Given the description of an element on the screen output the (x, y) to click on. 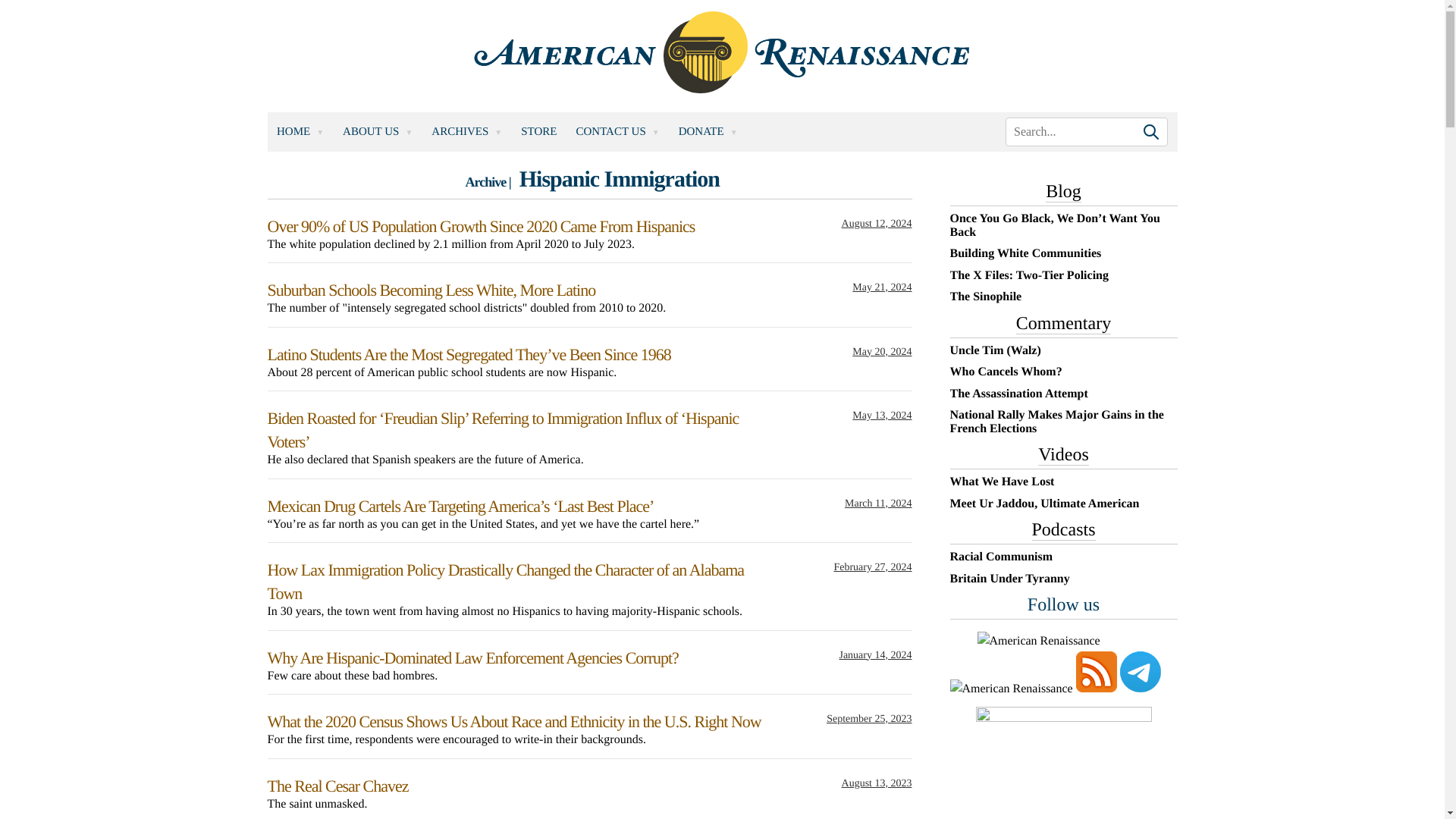
Follow us on Telegram (1139, 671)
Follow us on BitChute (1037, 641)
search (1086, 131)
Follow us on Gab (1010, 689)
Subscribe to our RSS feed (1095, 671)
ABOUT US (377, 131)
HOME (299, 131)
